Given the description of an element on the screen output the (x, y) to click on. 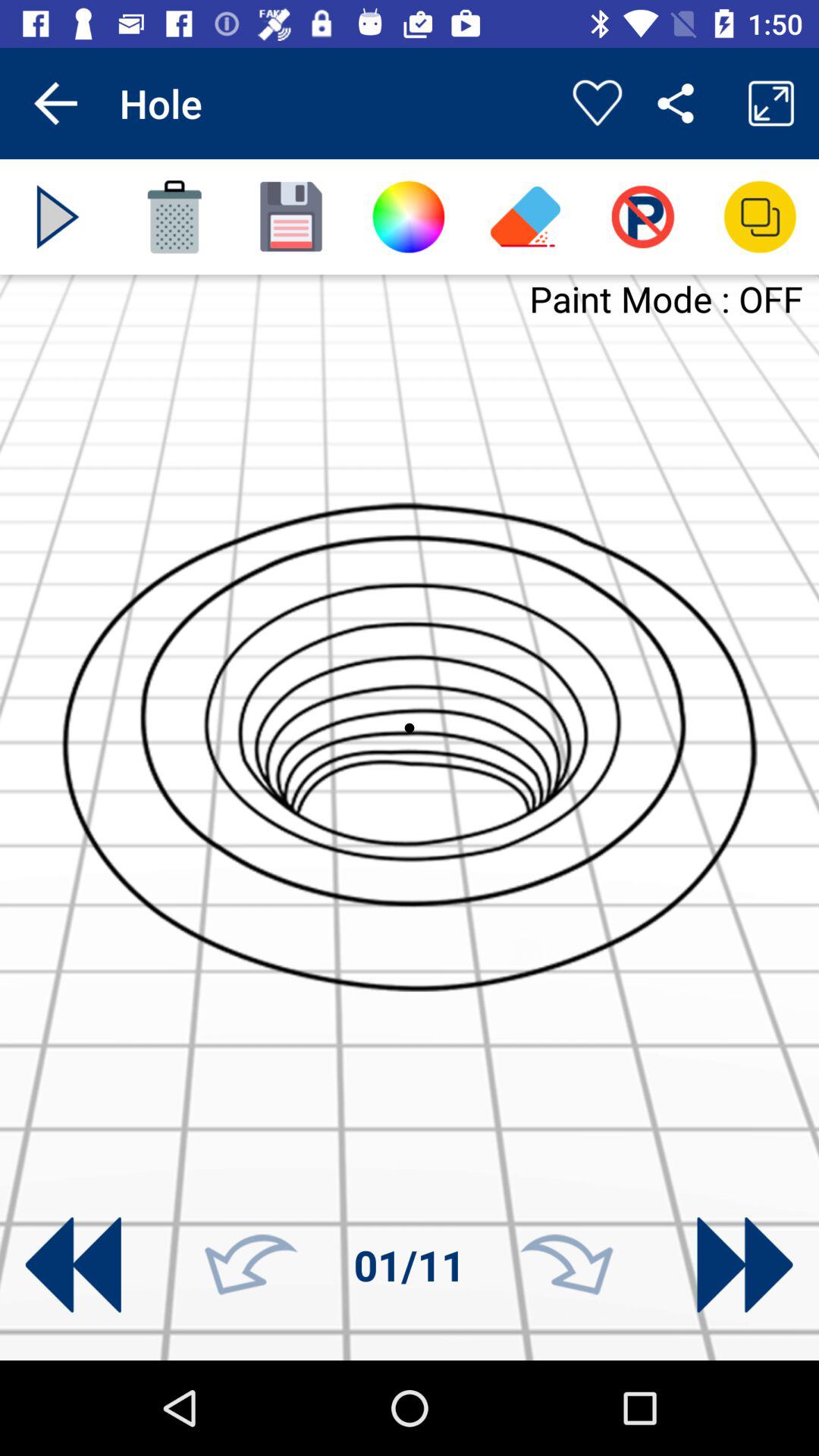
rotate left (251, 1264)
